Given the description of an element on the screen output the (x, y) to click on. 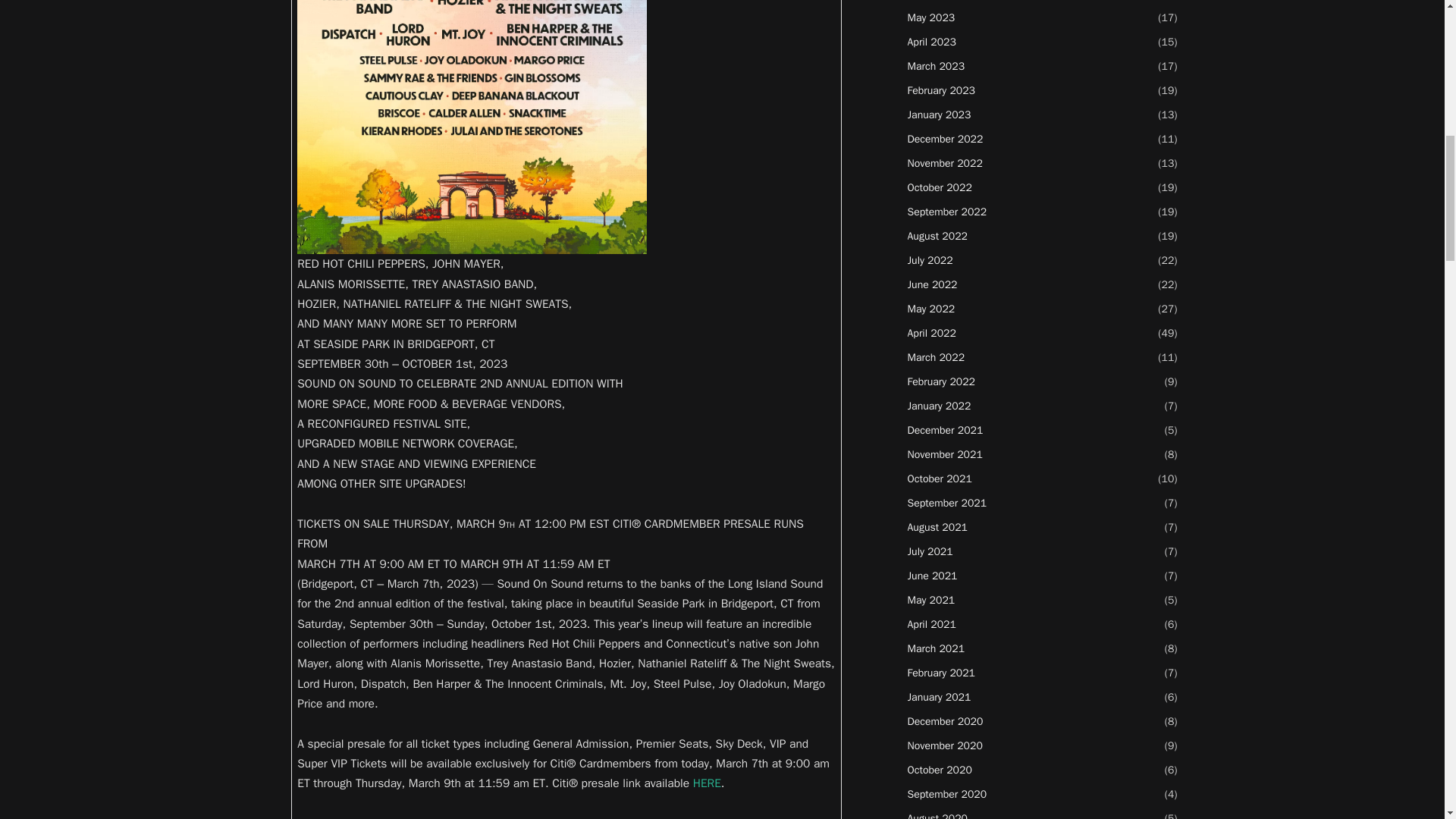
HERE (706, 783)
